Given the description of an element on the screen output the (x, y) to click on. 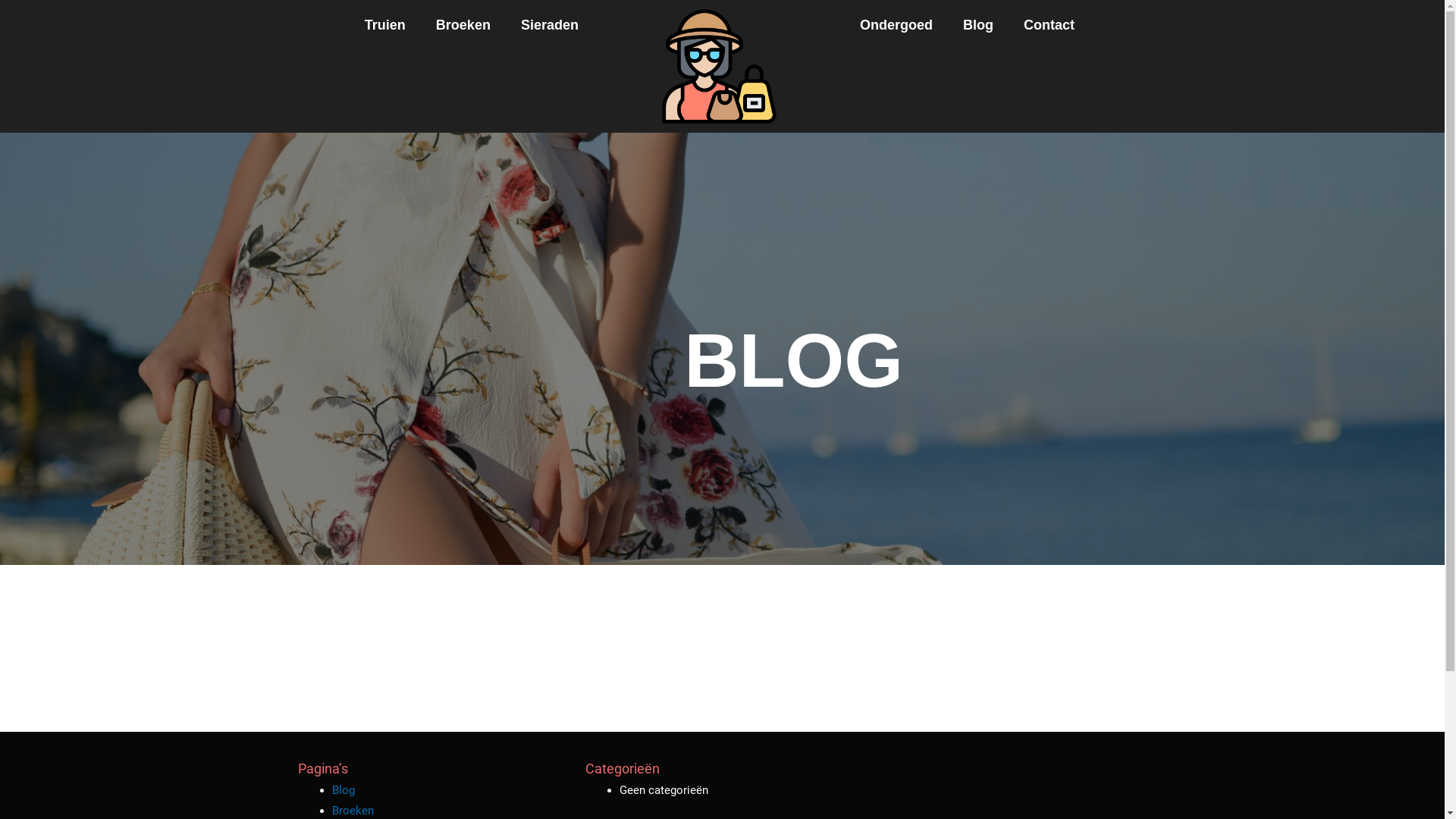
Ondergoed Element type: text (895, 24)
Contact Element type: text (1048, 24)
Sieraden Element type: text (549, 24)
Blog Element type: text (343, 790)
Truien Element type: text (384, 24)
Broeken Element type: text (352, 810)
Blog Element type: text (977, 24)
Broeken Element type: text (462, 24)
shopaholic Element type: hover (719, 66)
